Given the description of an element on the screen output the (x, y) to click on. 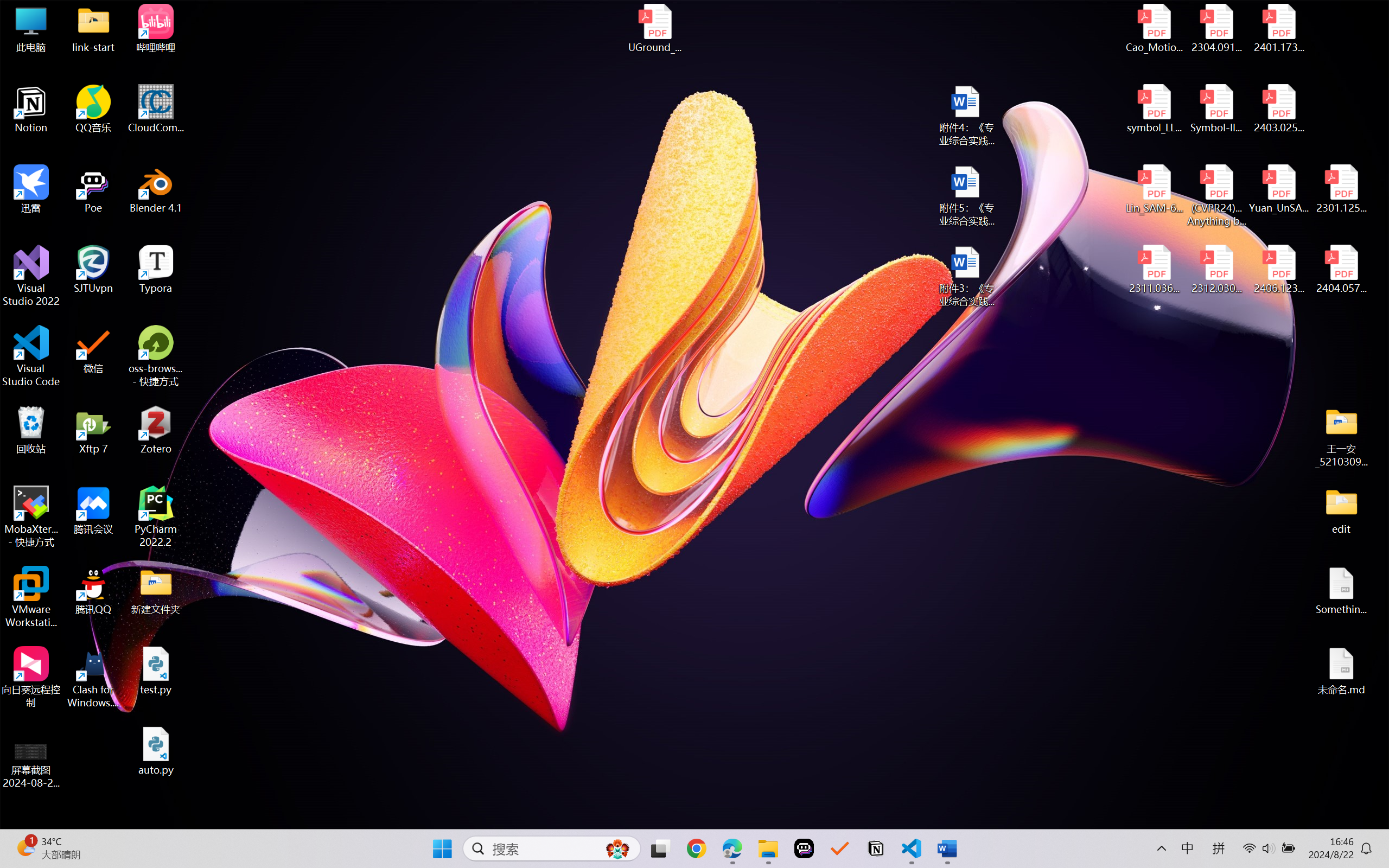
VMware Workstation Pro (31, 597)
Typora (156, 269)
2311.03658v2.pdf (1154, 269)
(CVPR24)Matching Anything by Segmenting Anything.pdf (1216, 195)
edit (1340, 510)
2401.17399v1.pdf (1278, 28)
Xftp 7 (93, 430)
2403.02502v1.pdf (1278, 109)
